Given the description of an element on the screen output the (x, y) to click on. 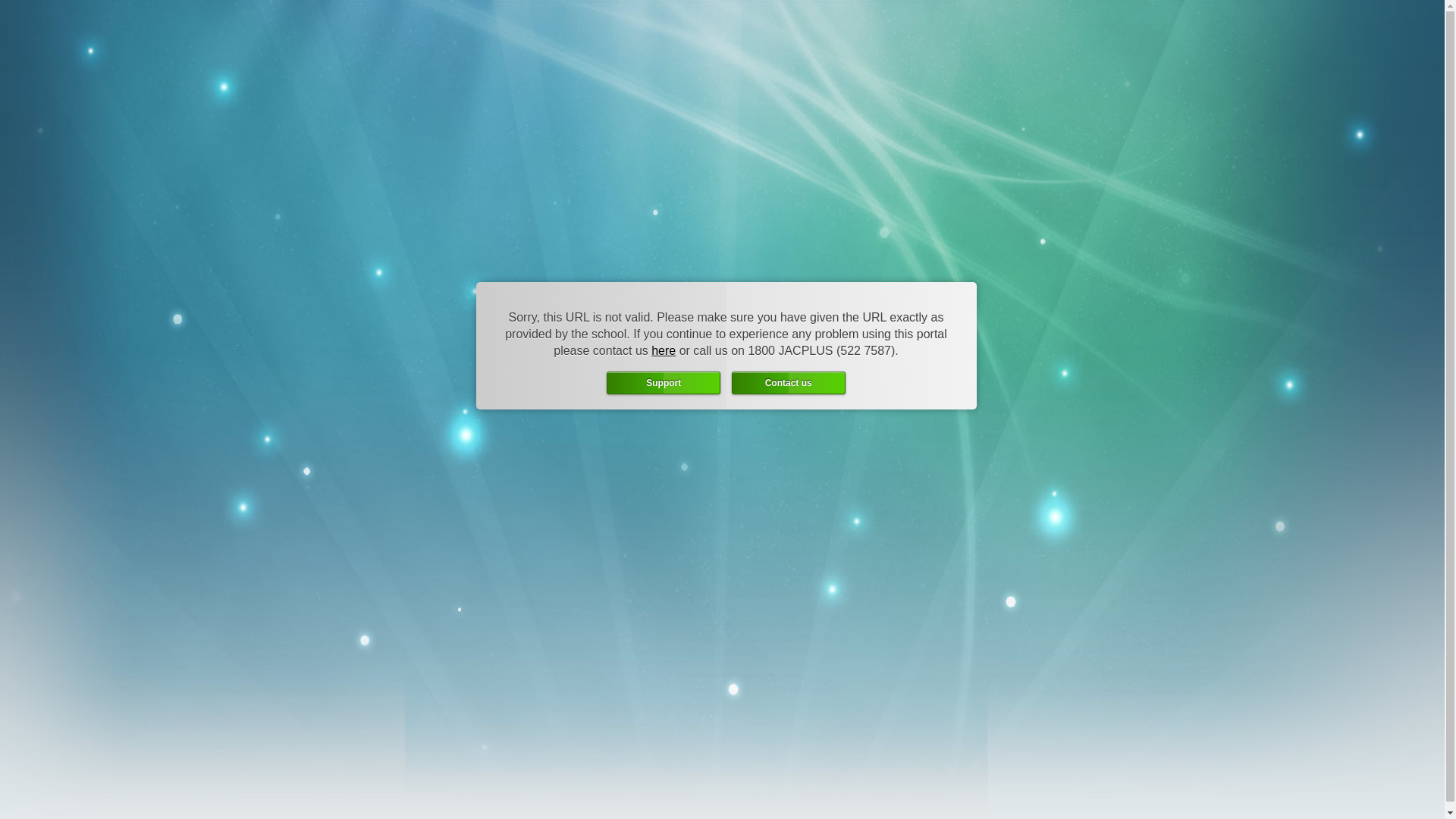
here Element type: text (663, 350)
Contact us Element type: text (788, 382)
Support Element type: text (663, 382)
